Given the description of an element on the screen output the (x, y) to click on. 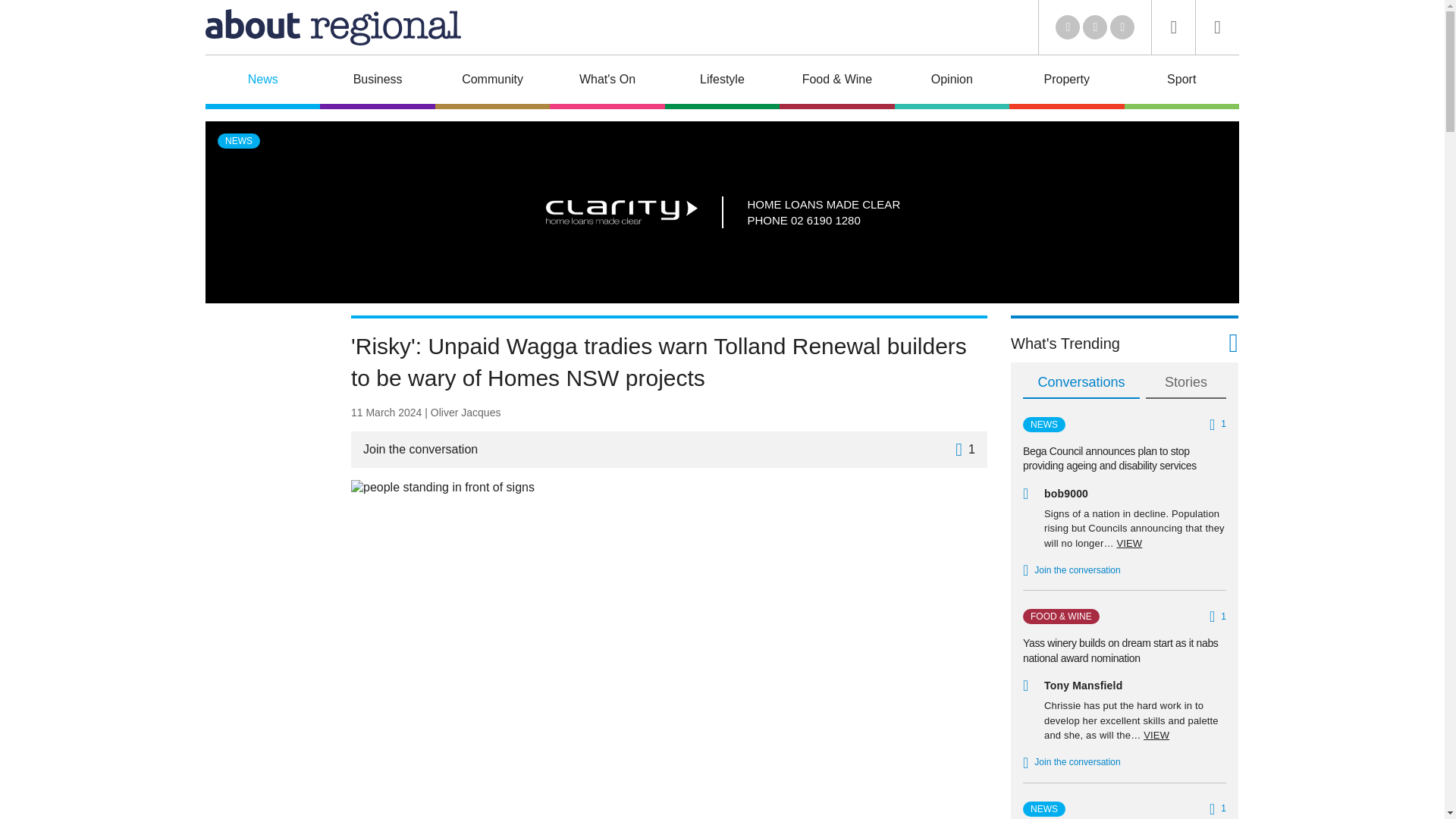
Twitter (1067, 27)
Facebook (1094, 27)
About Regional Home (333, 26)
Search the website (1173, 27)
Instagram (1121, 27)
Login to About Regional (1217, 27)
Business (376, 81)
News (262, 81)
